Given the description of an element on the screen output the (x, y) to click on. 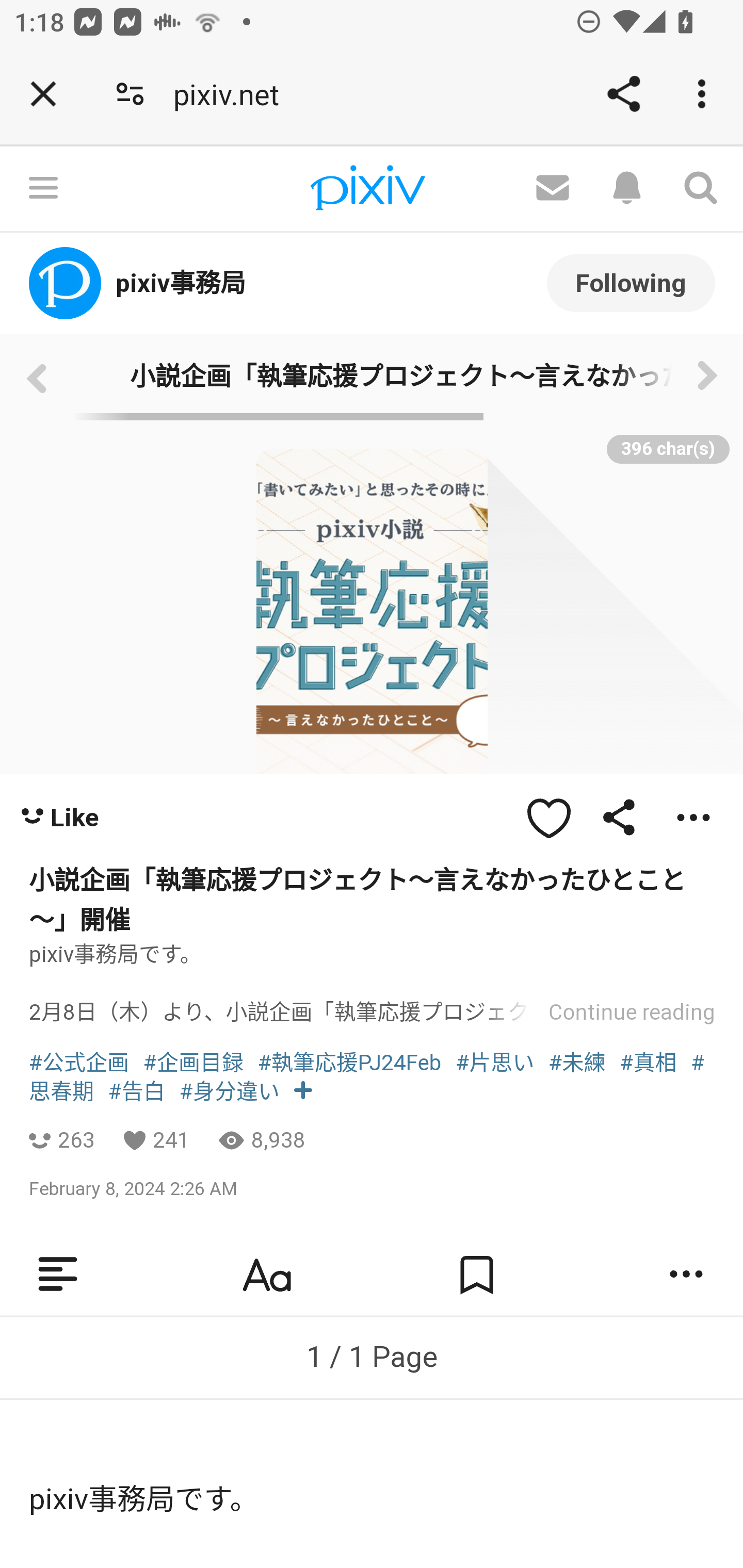
Close tab (43, 93)
Share (623, 93)
Customize and control Google Chrome (705, 93)
Connection is secure (129, 93)
pixiv.net (233, 93)
pixiv (366, 188)
messages (552, 188)
notify_all (626, 188)
Following (630, 282)
pixiv事務局 (323, 282)
小説企画「執筆応援プロジェクト～言えなかったひとこと～」開催 (371, 376)
c93df036f41fef3e2396a3a3e63c4d14 (36, 376)
c93df036f41fef3e2396a3a3e63c4d14 (707, 376)
#公式企画 # 公式企画 (79, 1061)
#思春期 # 思春期 (366, 1076)
#企画目録 # 企画目録 (192, 1061)
#執筆応援PJ24Feb # 執筆応援PJ24Feb (349, 1061)
#片思い # 片思い (494, 1061)
#未練 # 未練 (576, 1061)
#真相 # 真相 (647, 1061)
#告白 # 告白 (137, 1091)
#身分違い # 身分違い (228, 1091)
241 (171, 1139)
